Given the description of an element on the screen output the (x, y) to click on. 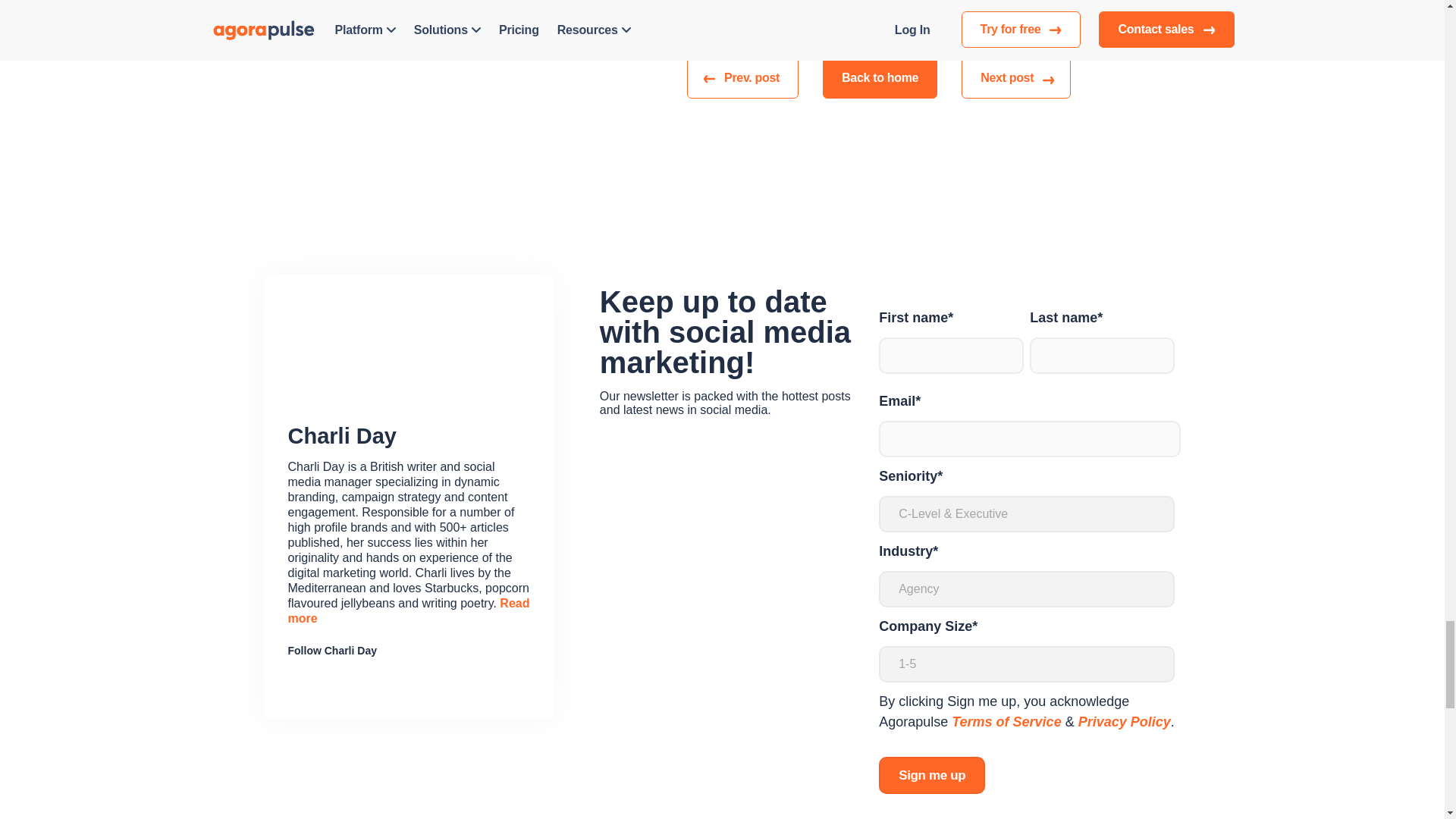
Sign me up (932, 775)
